Given the description of an element on the screen output the (x, y) to click on. 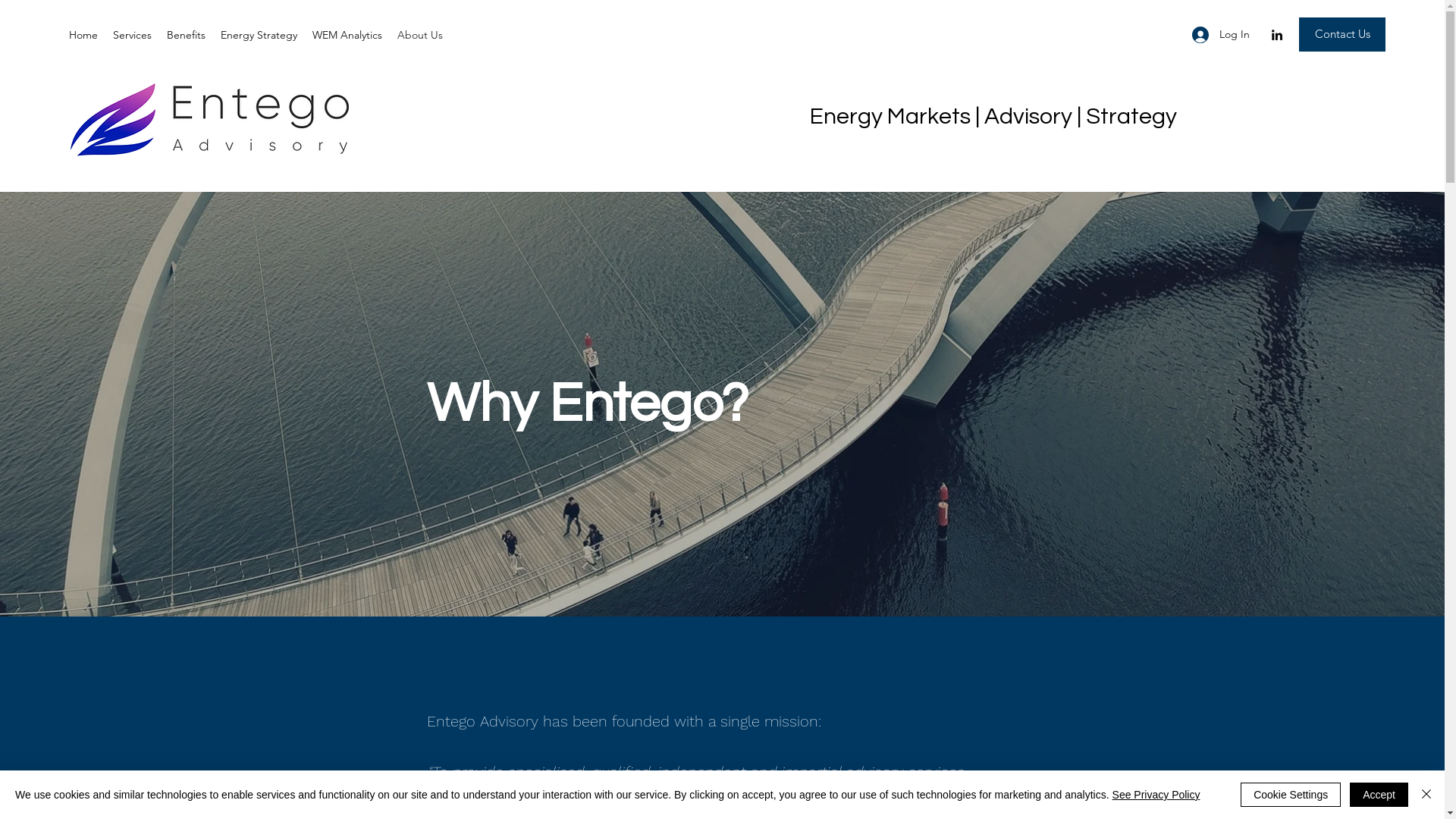
Home Element type: text (83, 34)
WEM Analytics Element type: text (346, 34)
Energy Strategy Element type: text (258, 34)
Cookie Settings Element type: text (1290, 794)
About Us Element type: text (419, 34)
Services Element type: text (132, 34)
Contact Us Element type: text (1342, 34)
Benefits Element type: text (186, 34)
Accept Element type: text (1378, 794)
Log In Element type: text (1220, 34)
See Privacy Policy Element type: text (1156, 794)
